Given the description of an element on the screen output the (x, y) to click on. 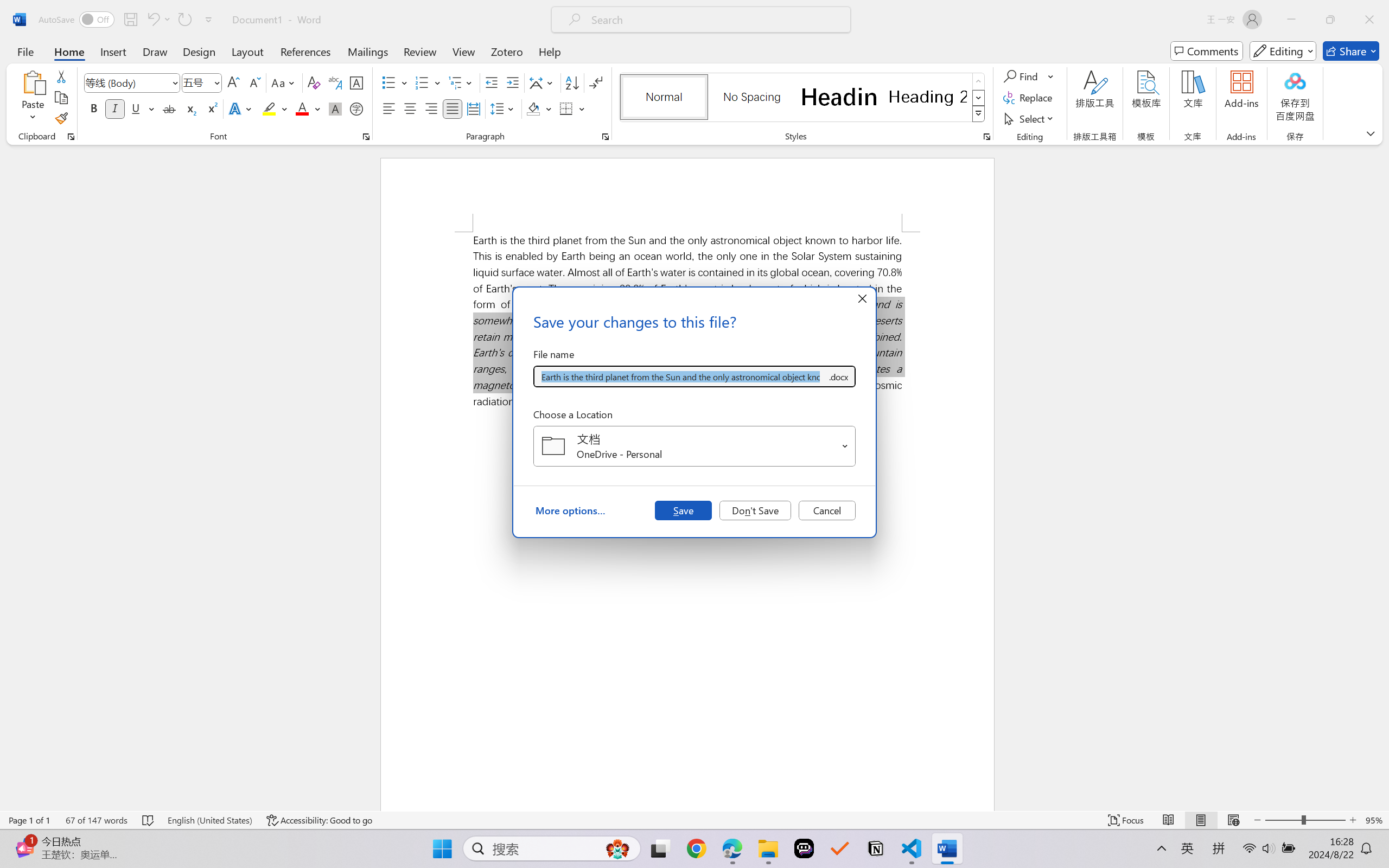
Choose a Location (694, 446)
Cut (60, 75)
Character Shading (334, 108)
Google Chrome (696, 848)
Zoom 95% (1374, 819)
